Given the description of an element on the screen output the (x, y) to click on. 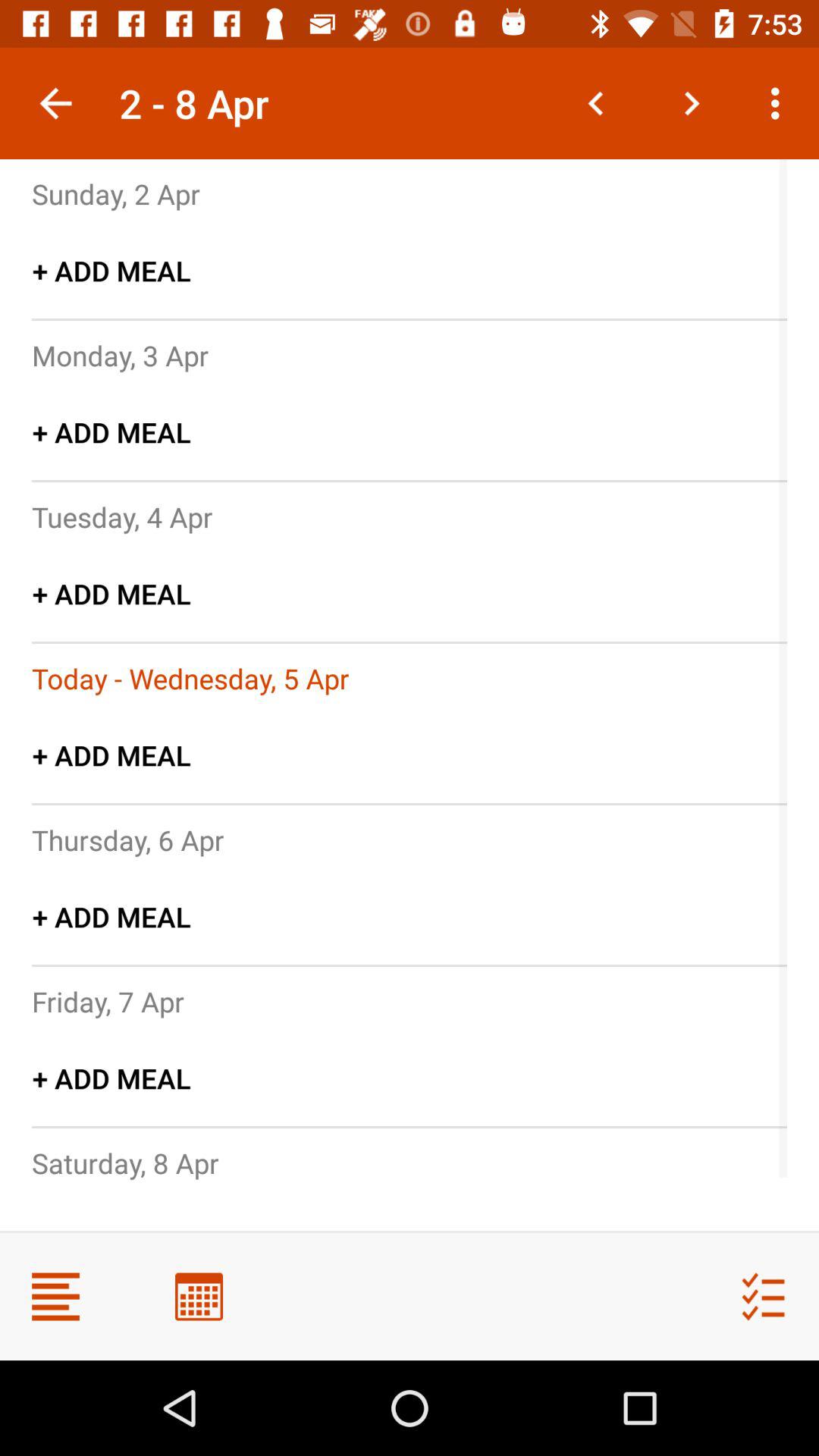
open the monday, 3 apr item (119, 355)
